Given the description of an element on the screen output the (x, y) to click on. 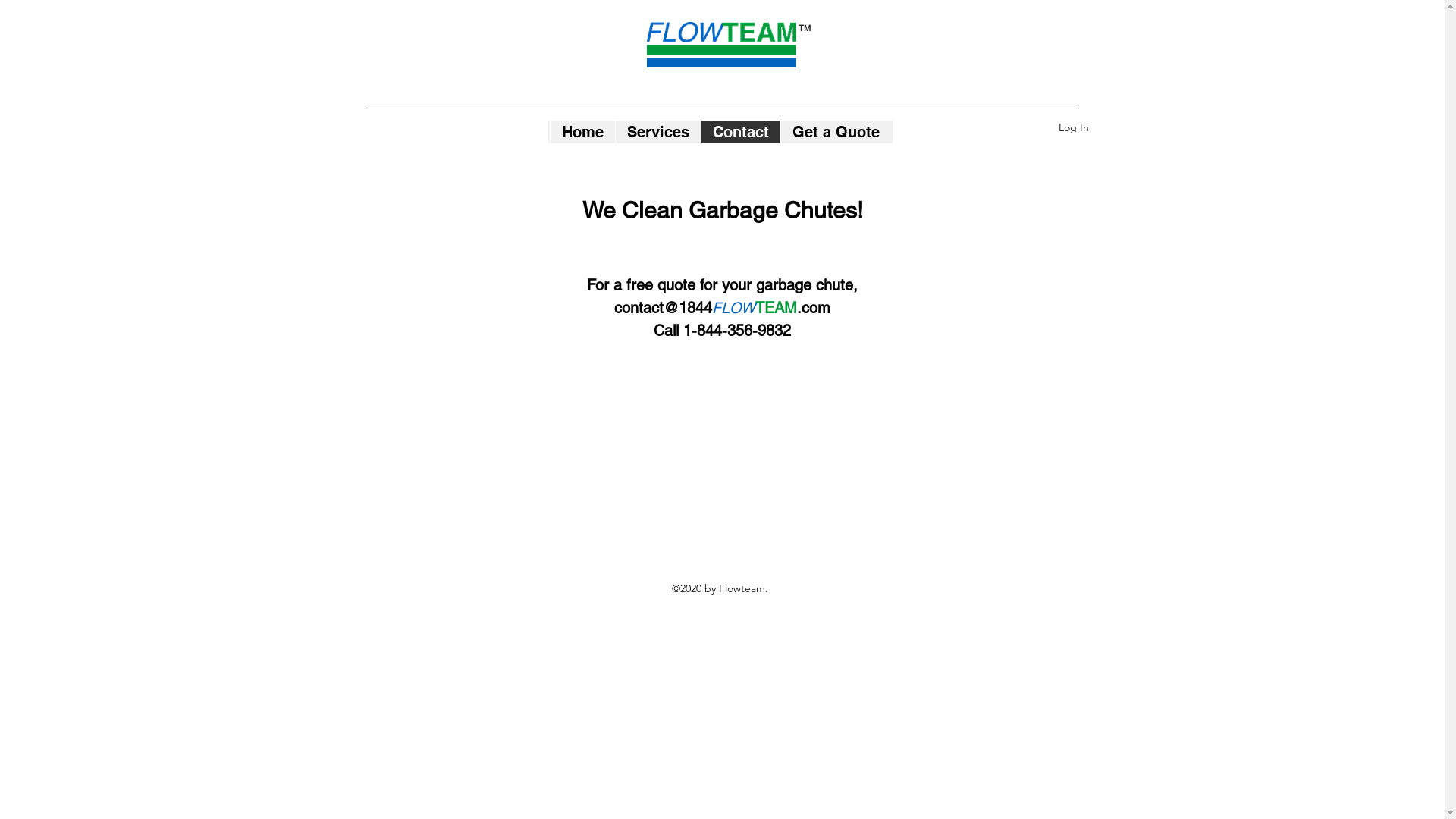
Log In Element type: text (1073, 127)
Get a Quote Element type: text (834, 131)
Services Element type: text (656, 131)
Home Element type: text (581, 131)
Contact Element type: text (740, 131)
